Given the description of an element on the screen output the (x, y) to click on. 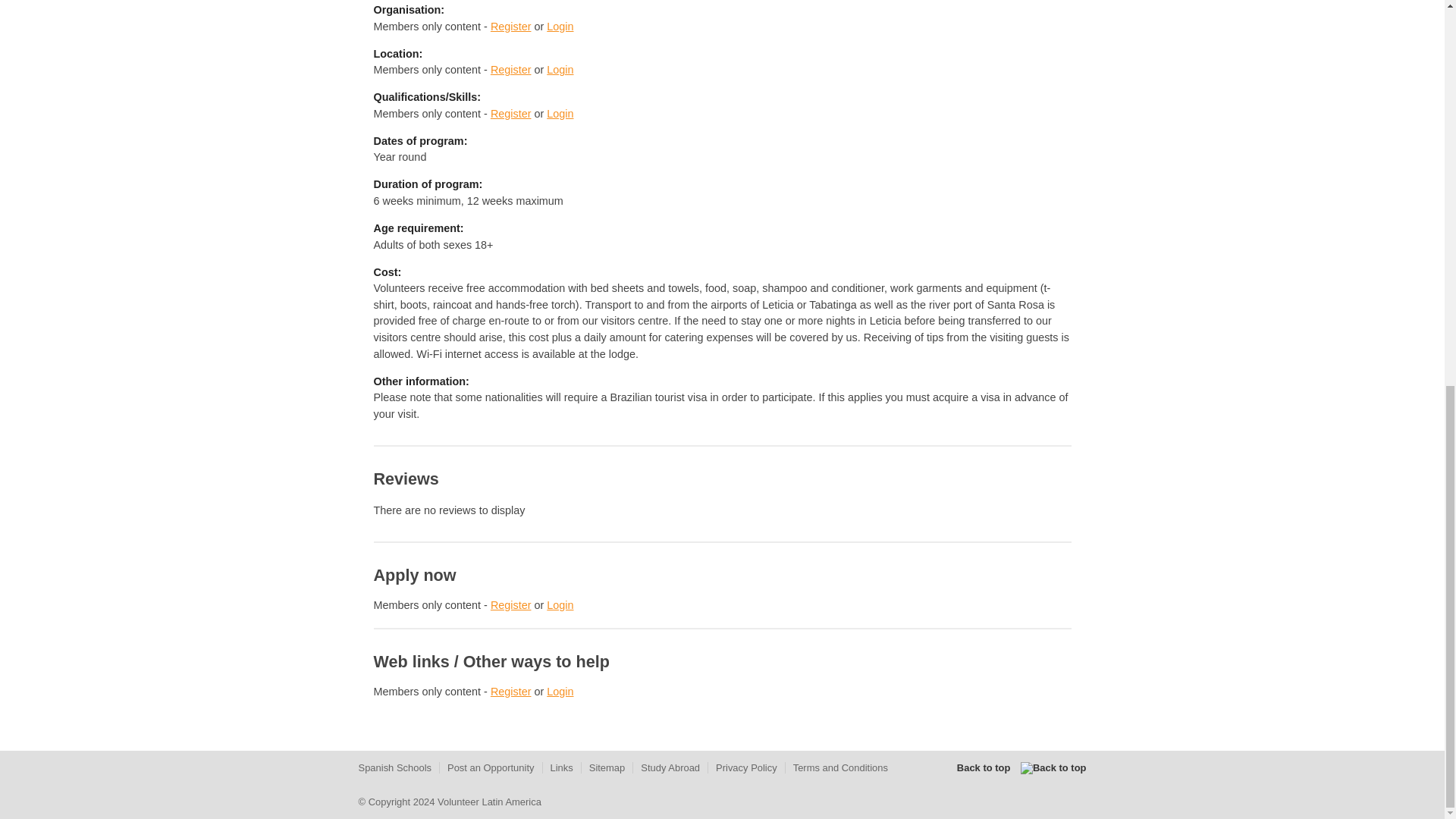
Login (560, 69)
Post an Opportunity (490, 767)
Login (560, 113)
Spanish Schools (394, 767)
Links (561, 767)
Login (560, 604)
Register (510, 604)
Post an Opportunity (490, 767)
Register (510, 69)
Submit Your Spanish Language School (394, 767)
Sitemap (607, 767)
Back to top (1021, 767)
Register (510, 691)
Register (510, 26)
Register (510, 113)
